Given the description of an element on the screen output the (x, y) to click on. 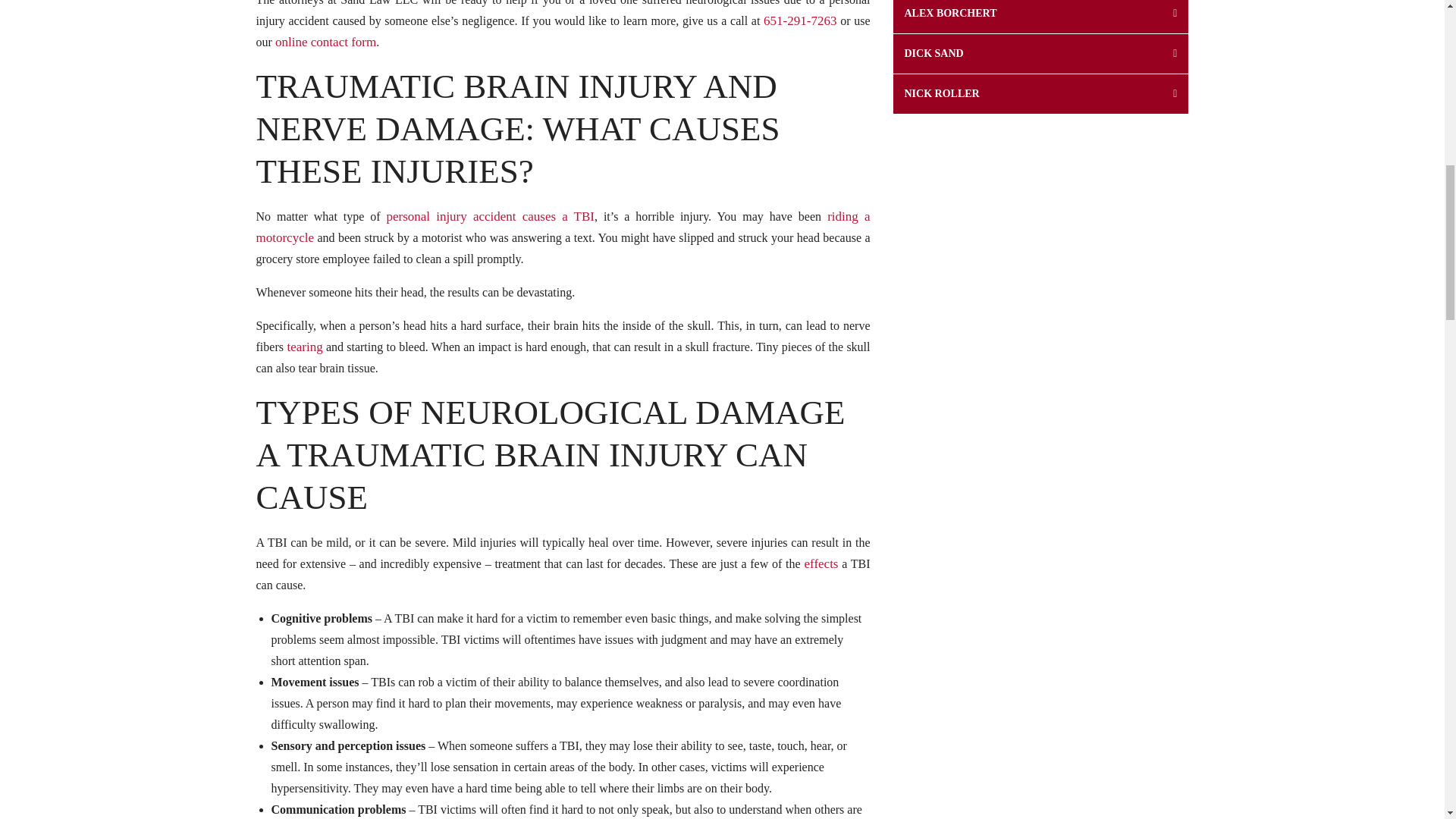
personal injury accident causes a TBI (489, 216)
effects (819, 563)
online contact form (323, 42)
tearing (303, 346)
651-291-7263 (798, 20)
riding a motorcycle (563, 226)
